Given the description of an element on the screen output the (x, y) to click on. 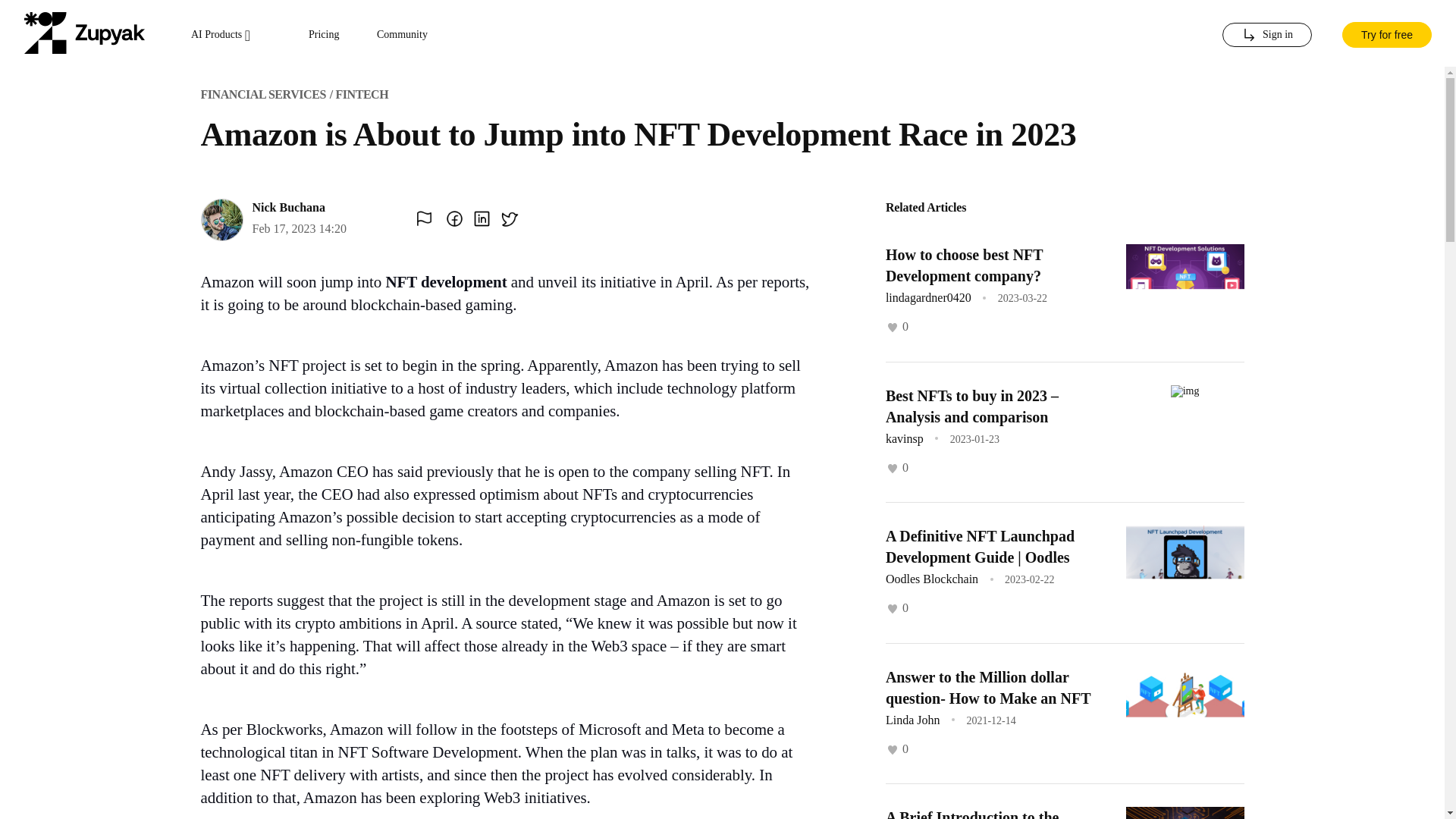
Pricing (323, 34)
FINANCIAL SERVICES (262, 93)
Community (402, 34)
FINTECH (361, 93)
How to choose best NFT Development company? (963, 265)
NFT development (446, 281)
 Sign in (1267, 34)
Try for free (1386, 33)
A Brief Introduction to the Intricacies of Dynamic NFTs (977, 814)
